Given the description of an element on the screen output the (x, y) to click on. 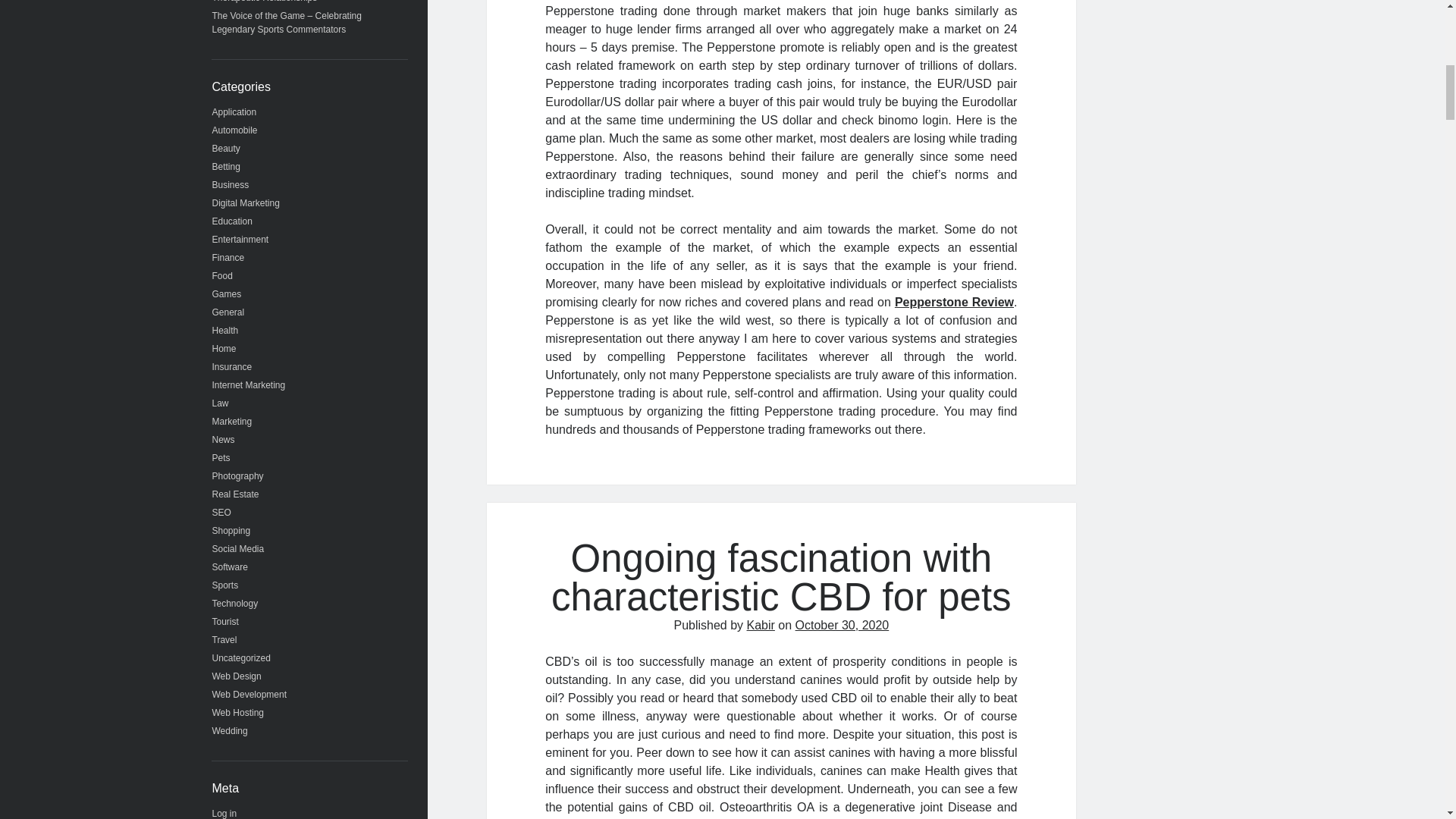
Automobile (234, 130)
Betting (226, 166)
News (223, 439)
Beauty (226, 148)
SEO (221, 511)
Entertainment (240, 239)
Education (231, 221)
Food (222, 276)
Marketing (231, 421)
General (228, 312)
Social Media (238, 548)
Software (229, 566)
Real Estate (235, 493)
Health (225, 330)
